Given the description of an element on the screen output the (x, y) to click on. 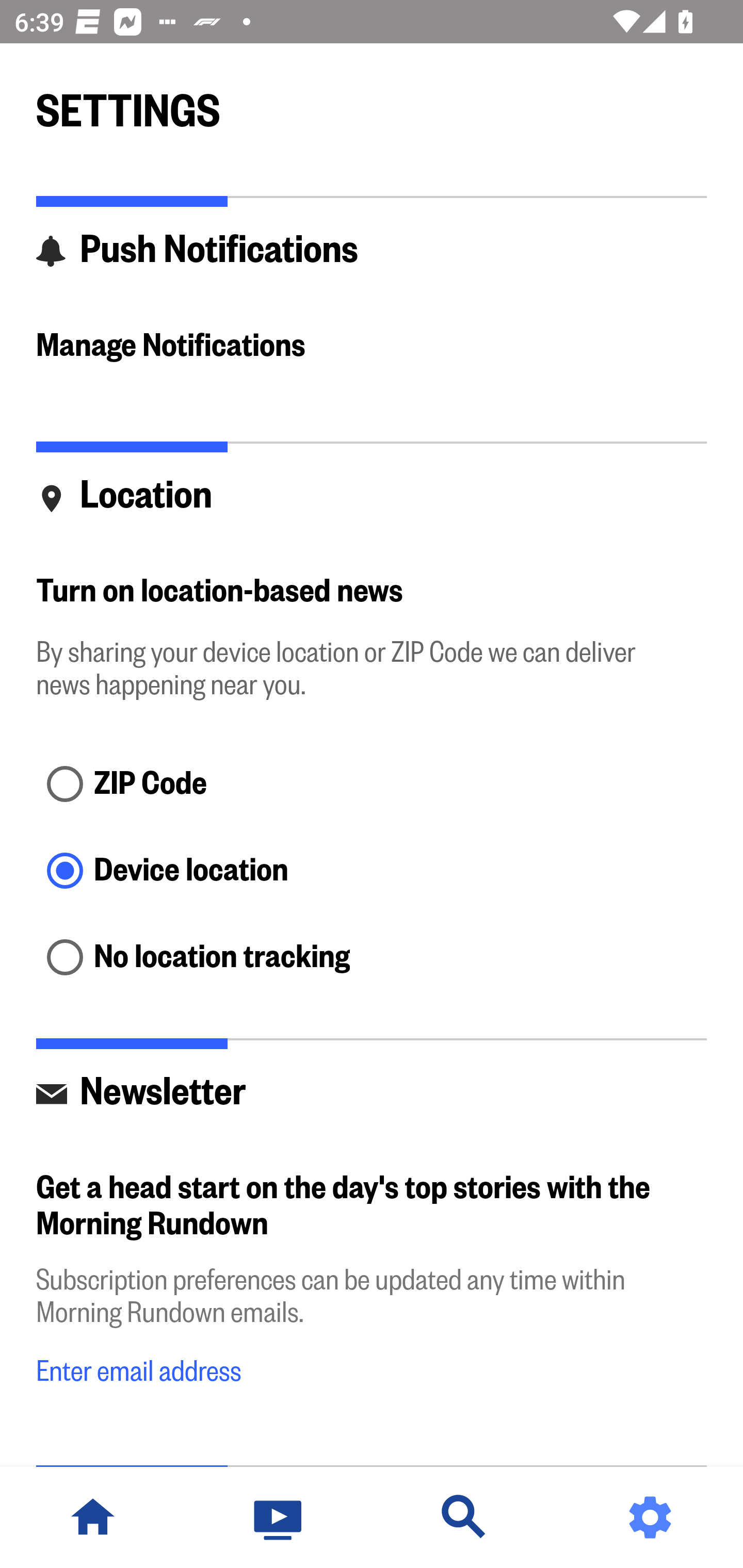
SETTINGS (371, 101)
Manage Notifications (371, 346)
ZIP Code (371, 785)
Device location (371, 872)
No location tracking (371, 958)
NBC News Home (92, 1517)
Watch (278, 1517)
Discover (464, 1517)
